Given the description of an element on the screen output the (x, y) to click on. 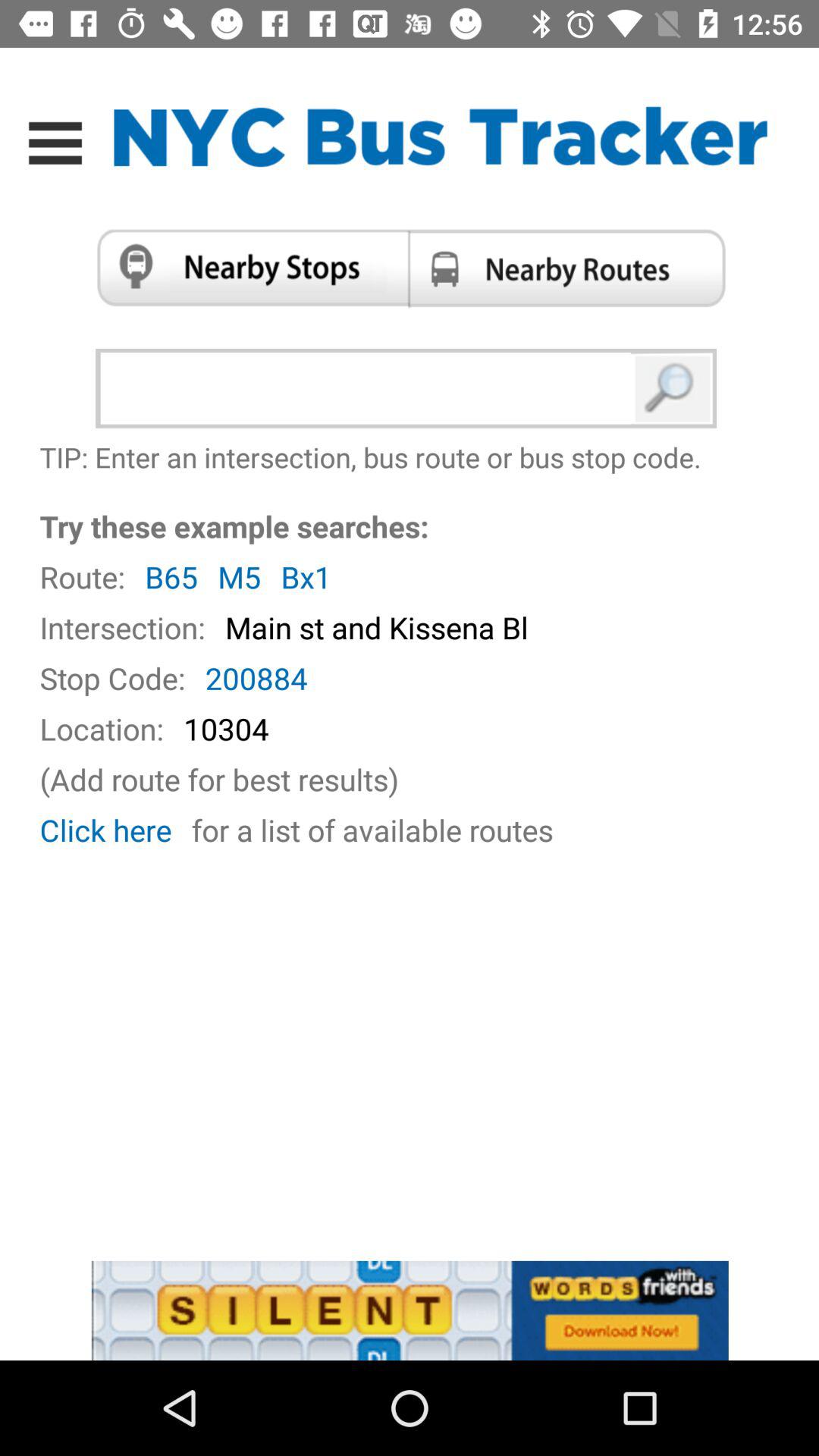
option selection (246, 267)
